Given the description of an element on the screen output the (x, y) to click on. 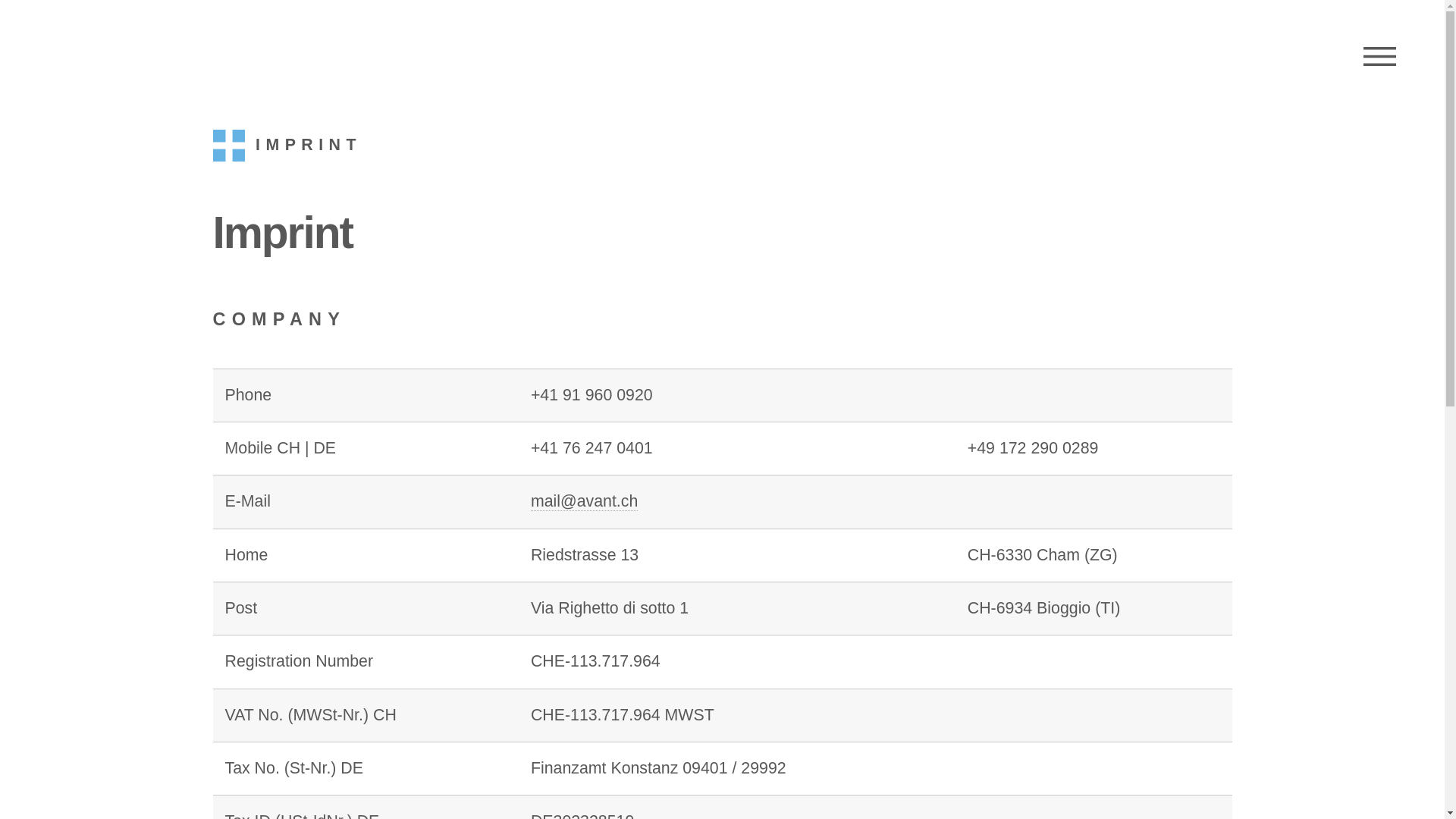
IMPRINT Element type: text (286, 145)
mail@avant.ch Element type: text (583, 501)
MENU Element type: text (1379, 56)
